Given the description of an element on the screen output the (x, y) to click on. 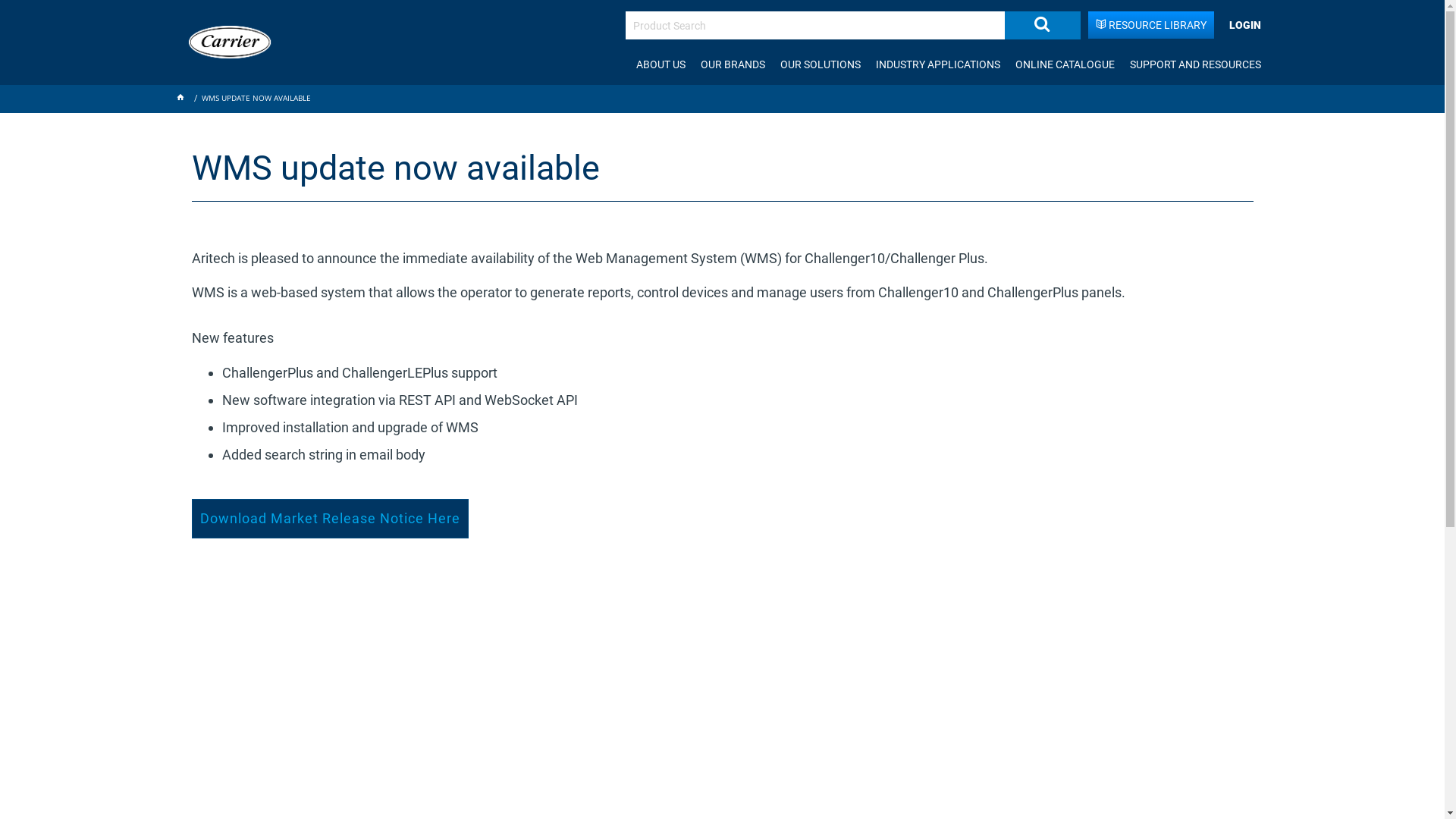
OUR BRANDS Element type: text (732, 64)
ONLINE CATALOGUE Element type: text (1064, 64)
SUPPORT AND RESOURCES Element type: text (1195, 64)
INDUSTRY APPLICATIONS Element type: text (937, 64)
ABOUT US Element type: text (659, 64)
RESOURCE LIBRARY Element type: text (1150, 24)
Download Market Release Notice Here Element type: text (329, 518)
OUR SOLUTIONS Element type: text (819, 64)
LOGIN Element type: text (1244, 24)
